Given the description of an element on the screen output the (x, y) to click on. 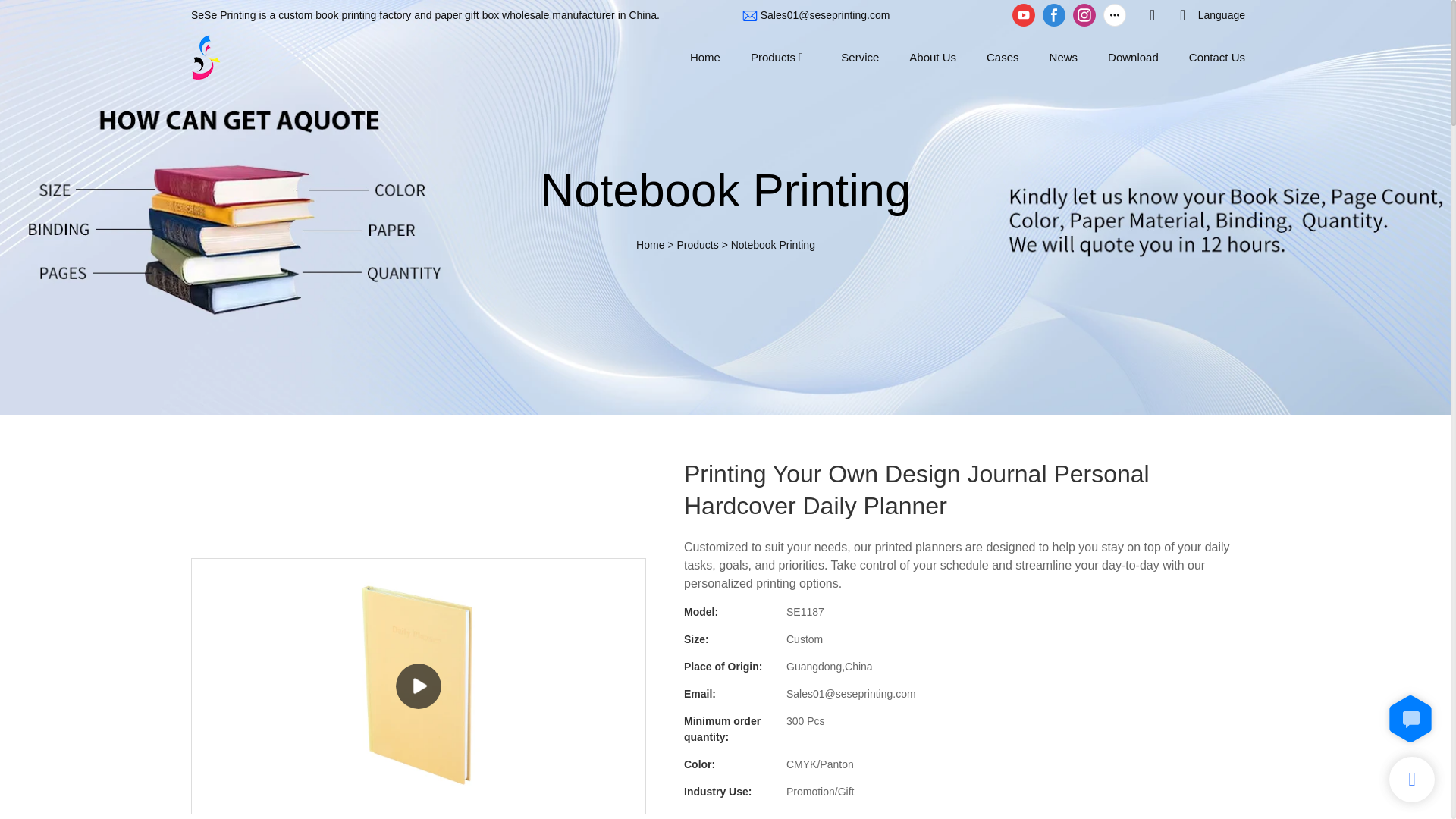
Download (1133, 56)
Cases (1003, 56)
Home (705, 56)
About Us (932, 56)
facebook (1053, 15)
youtube (1024, 15)
News (1063, 56)
Products (772, 56)
instagram (1083, 15)
Service (860, 56)
Contact Us (1216, 56)
